Given the description of an element on the screen output the (x, y) to click on. 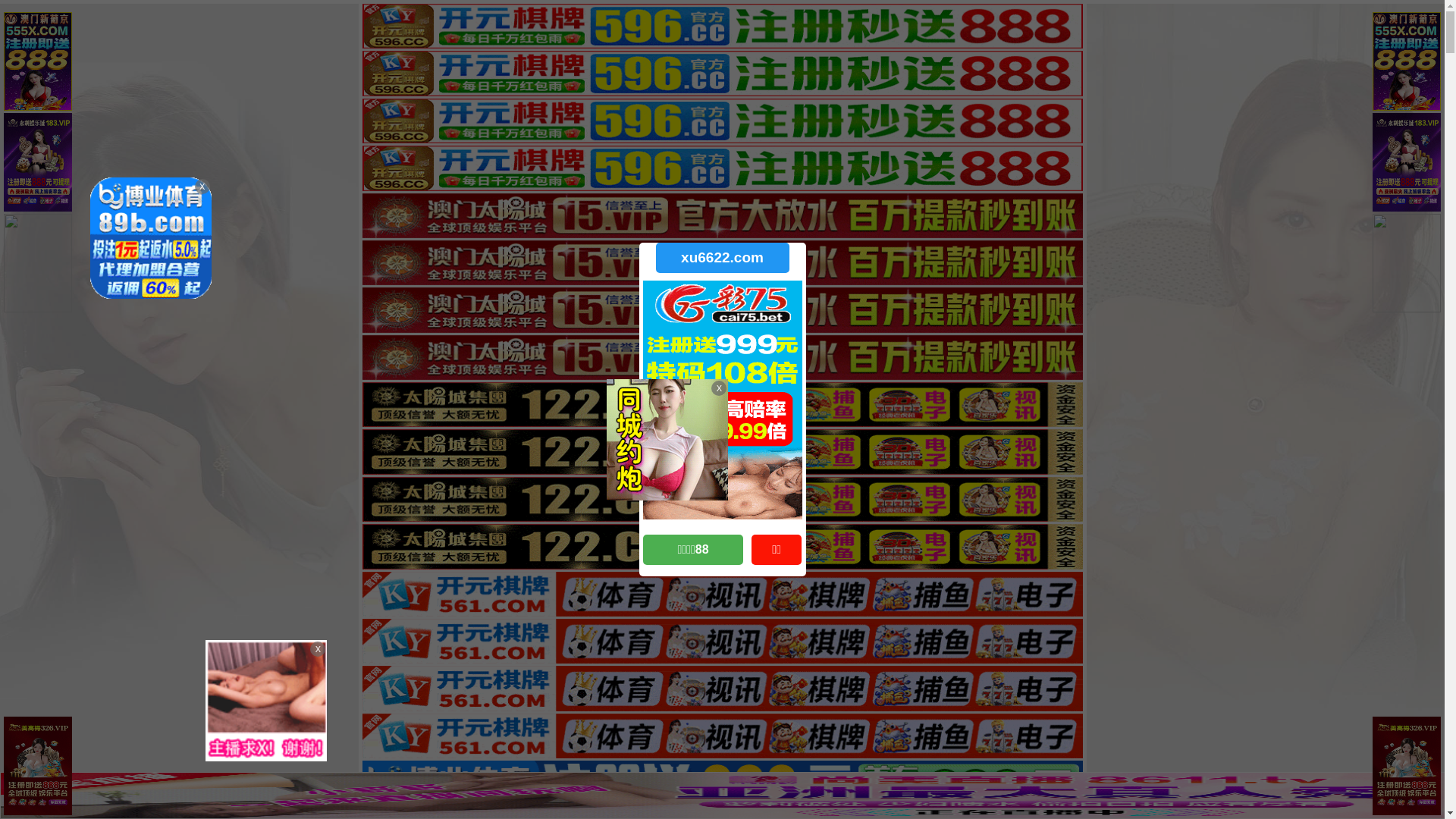
xu6622.com Element type: text (721, 257)
X Element type: text (1430, 789)
